Given the description of an element on the screen output the (x, y) to click on. 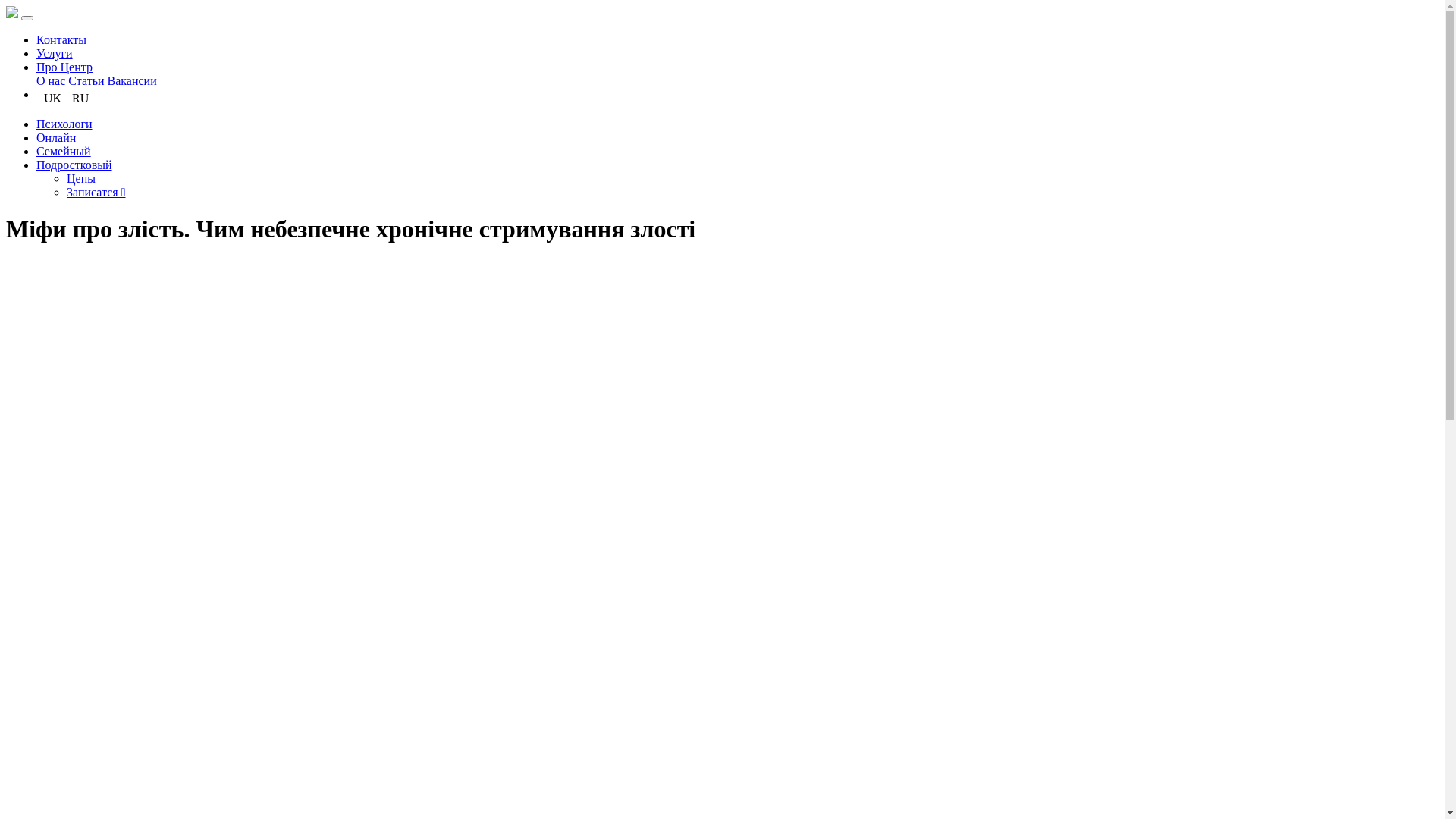
UK Element type: text (52, 97)
RU Element type: text (80, 97)
